Given the description of an element on the screen output the (x, y) to click on. 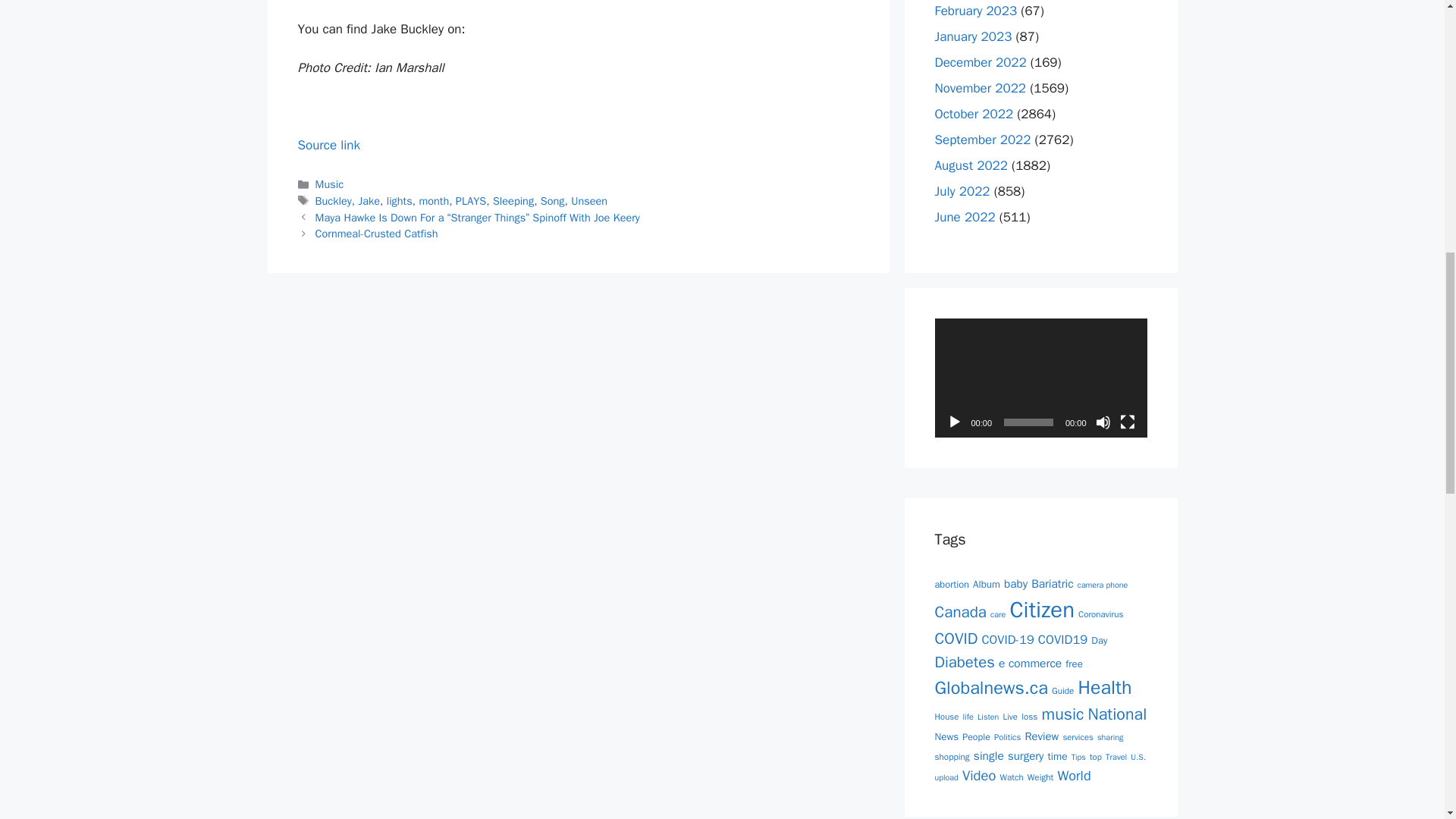
month (433, 201)
PLAYS (470, 201)
Play (953, 421)
Unseen (588, 201)
lights (399, 201)
Jake (369, 201)
Mute (1101, 421)
Song (552, 201)
Cornmeal-Crusted Catfish (376, 233)
Fullscreen (1126, 421)
